Given the description of an element on the screen output the (x, y) to click on. 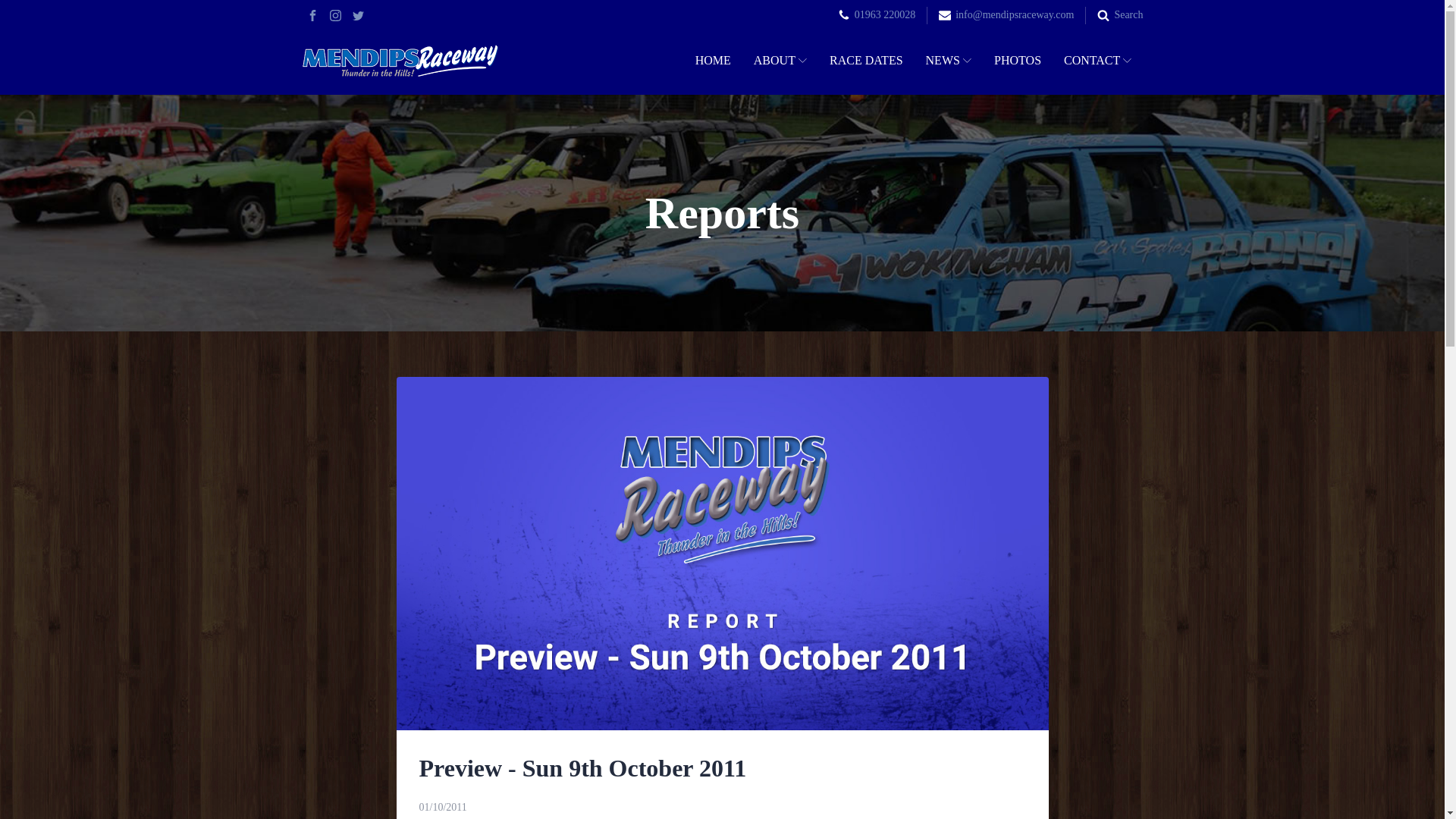
ABOUT (780, 60)
01963 220028 (884, 14)
CONTACT (1097, 60)
NEWS (949, 60)
RACE DATES (866, 60)
Search (1127, 14)
PHOTOS (1017, 60)
